Given the description of an element on the screen output the (x, y) to click on. 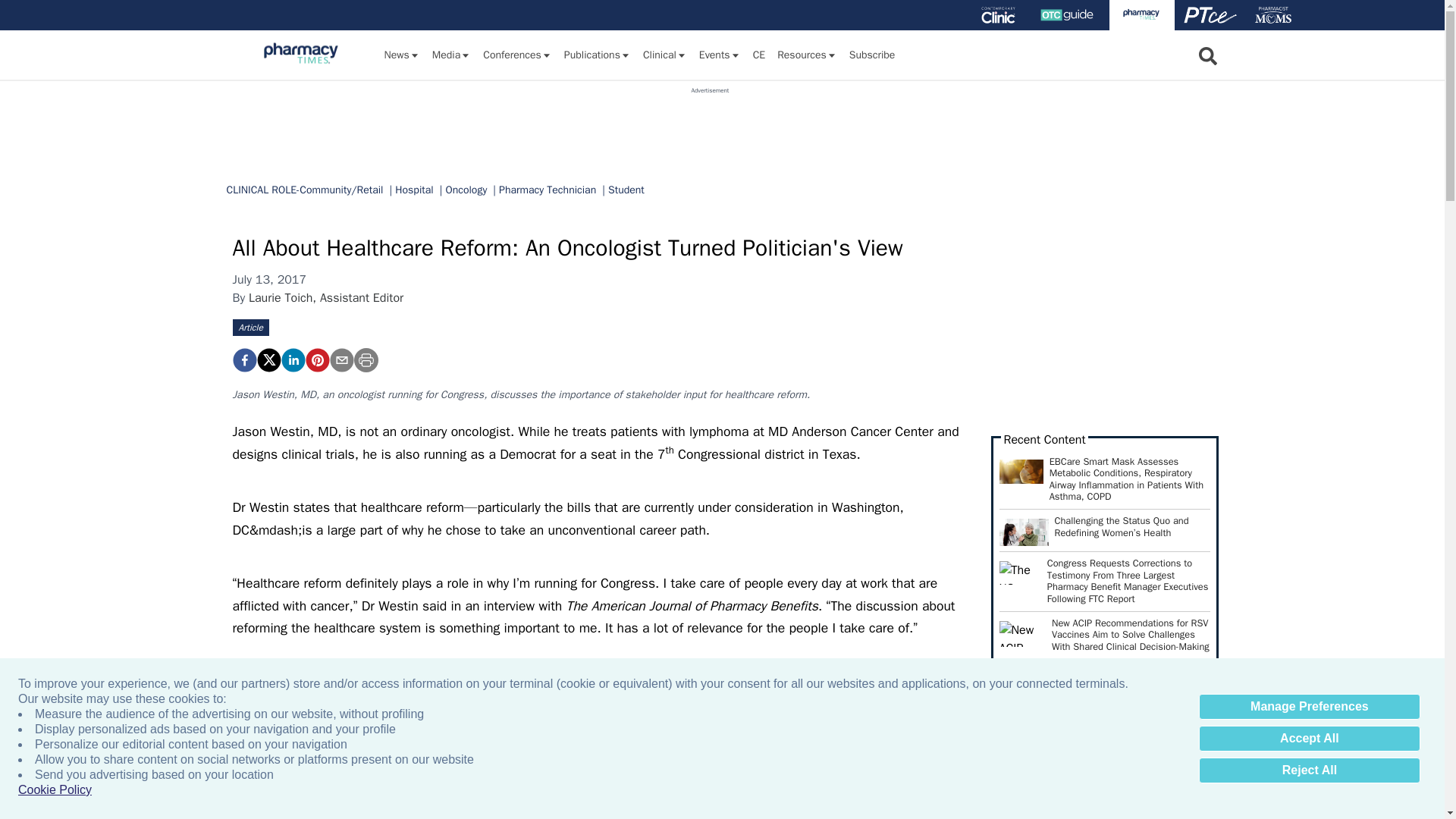
3rd party ad content (709, 128)
Cookie Policy (54, 789)
Reject All (1309, 769)
Manage Preferences (1309, 706)
Accept All (1309, 738)
